Given the description of an element on the screen output the (x, y) to click on. 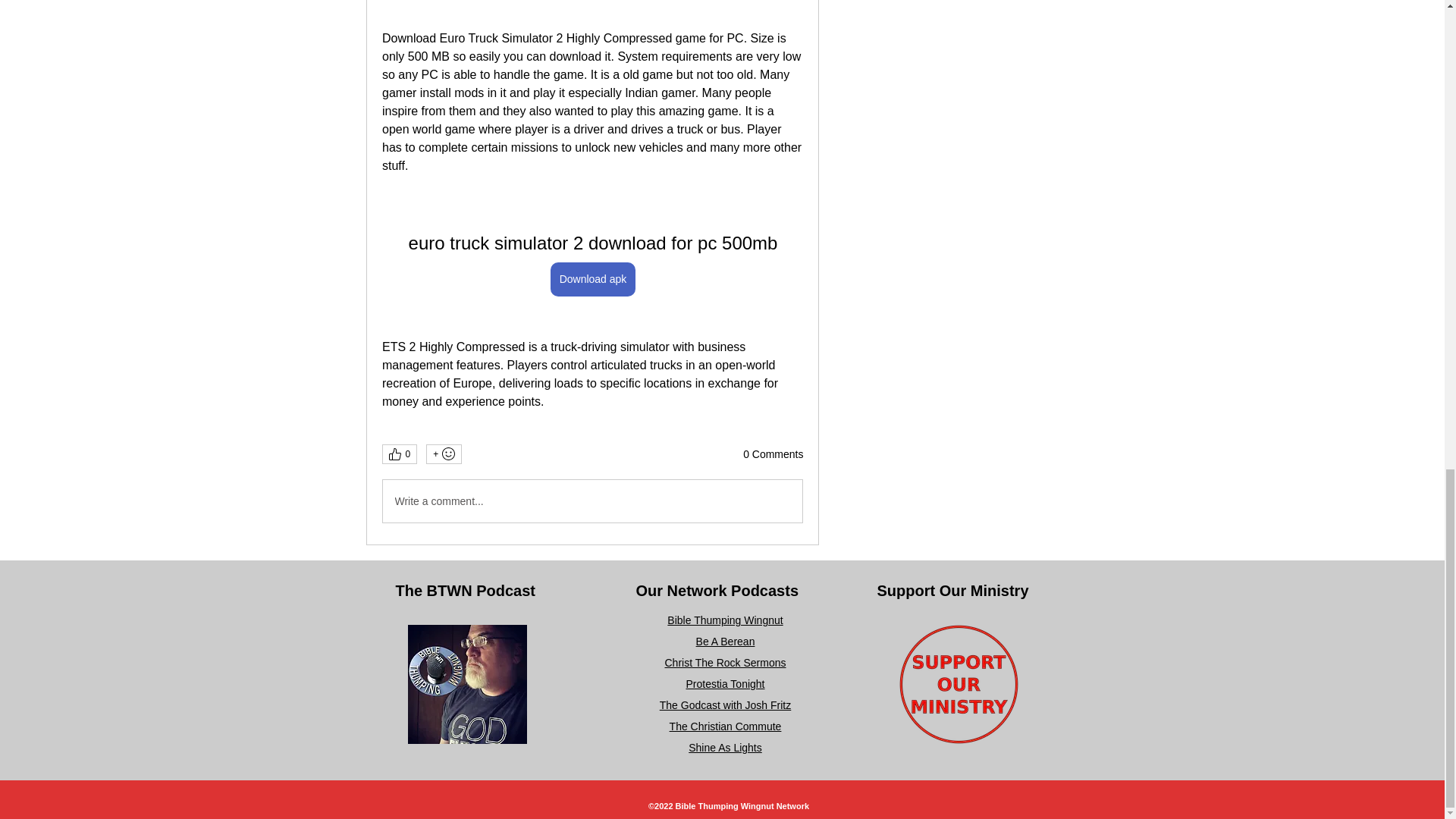
Download apk (592, 279)
Write a comment... (591, 500)
0 Comments (772, 454)
